Given the description of an element on the screen output the (x, y) to click on. 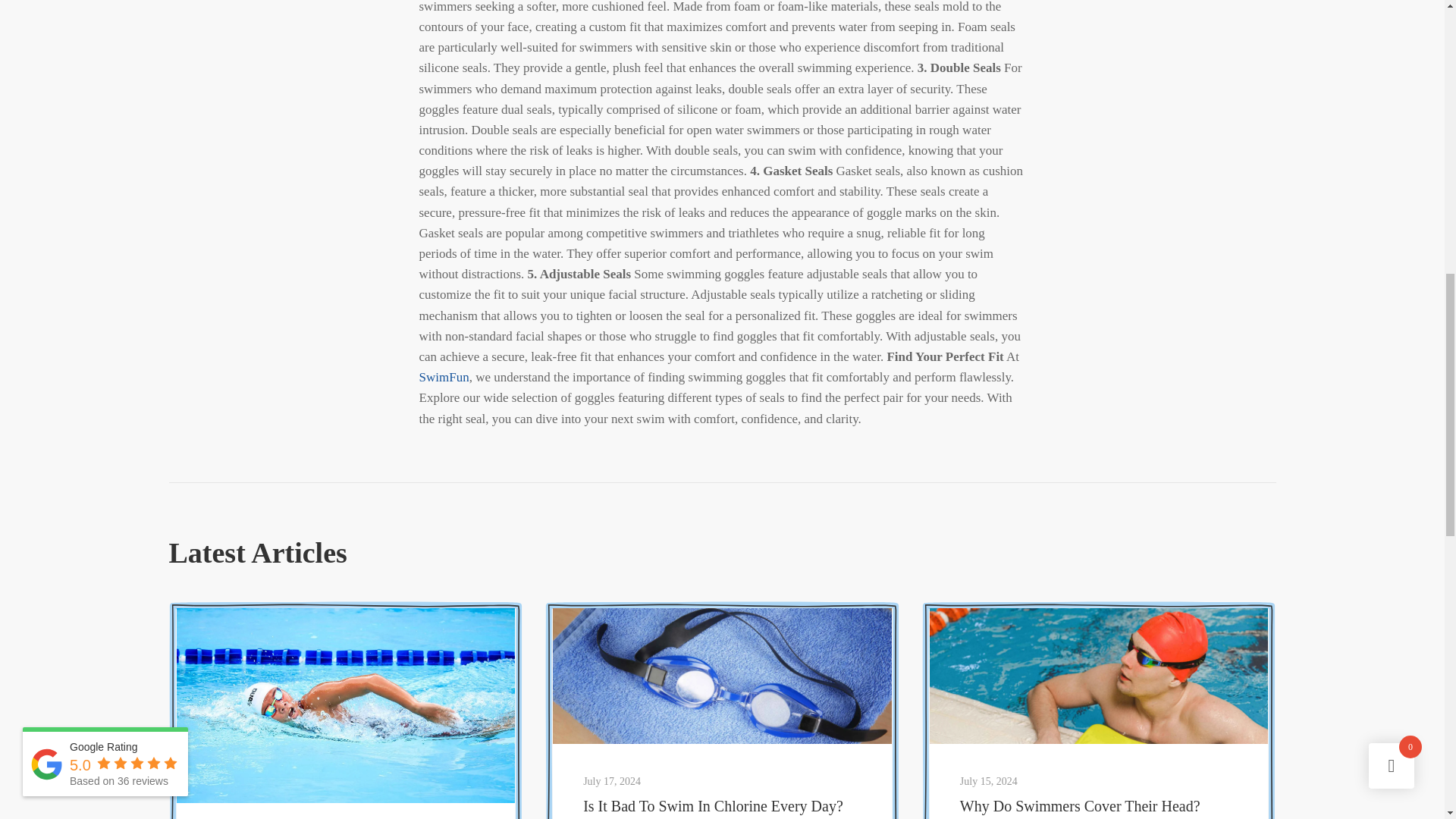
Swimfun Australia (1099, 675)
Swimfun Australia (345, 705)
Swimfun Australia (722, 675)
